Given the description of an element on the screen output the (x, y) to click on. 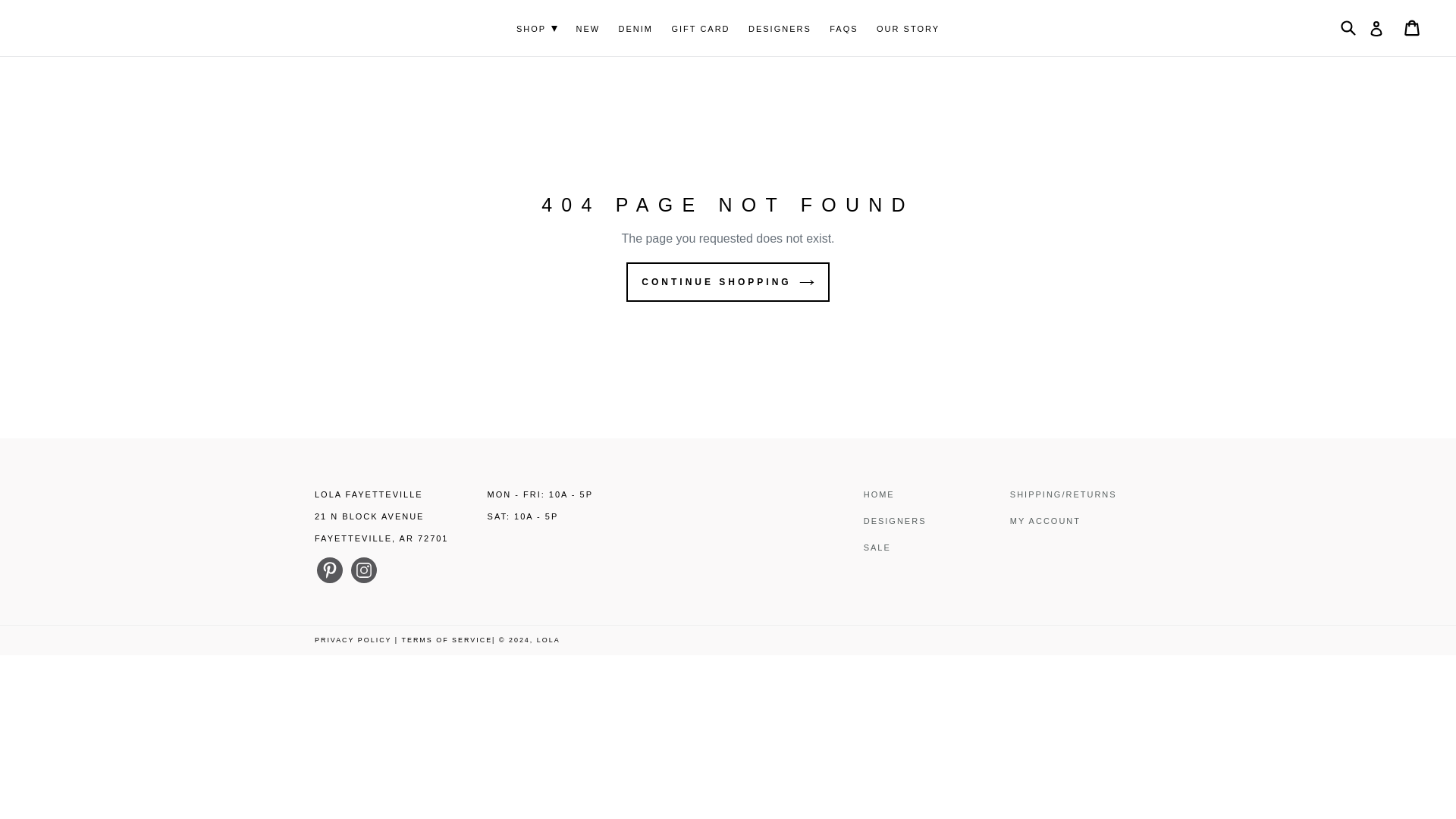
SHOP ICON-CHEVRON-DOWN CREATED WITH SKETCH. (536, 28)
ICON-CHEVRON-DOWN CREATED WITH SKETCH. (554, 28)
OUR STORY (908, 28)
GIFT CARD (699, 28)
DENIM (636, 28)
NEW (587, 28)
DESIGNERS (779, 28)
FAQS (843, 28)
